Given the description of an element on the screen output the (x, y) to click on. 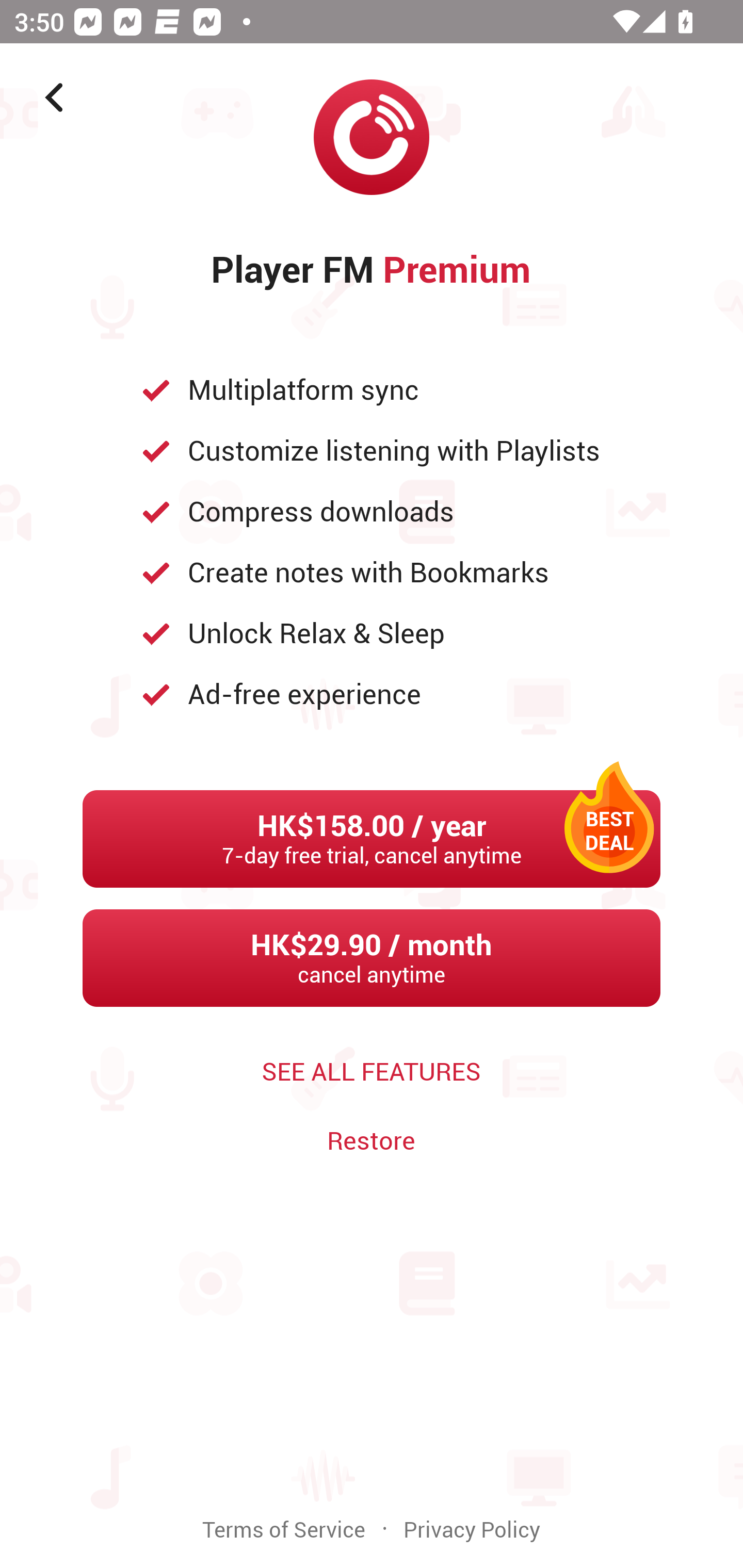
Upgrade HK$29.90 / month cancel anytime (371, 957)
SEE ALL FEATURES (371, 1071)
Restore (370, 1140)
Terms of Service (283, 1530)
Privacy Policy (471, 1530)
